Given the description of an element on the screen output the (x, y) to click on. 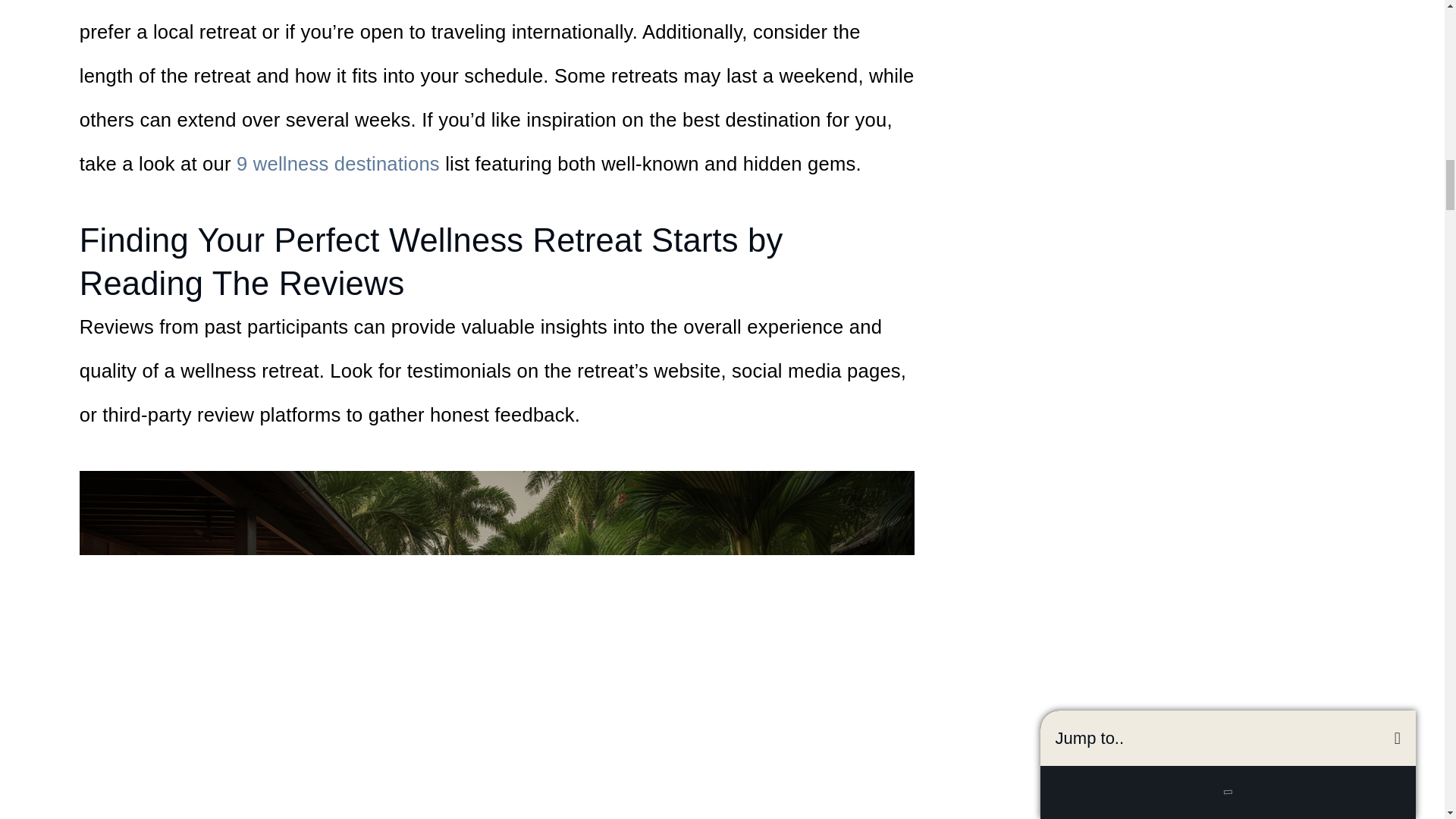
9 wellness destinations (337, 163)
